Given the description of an element on the screen output the (x, y) to click on. 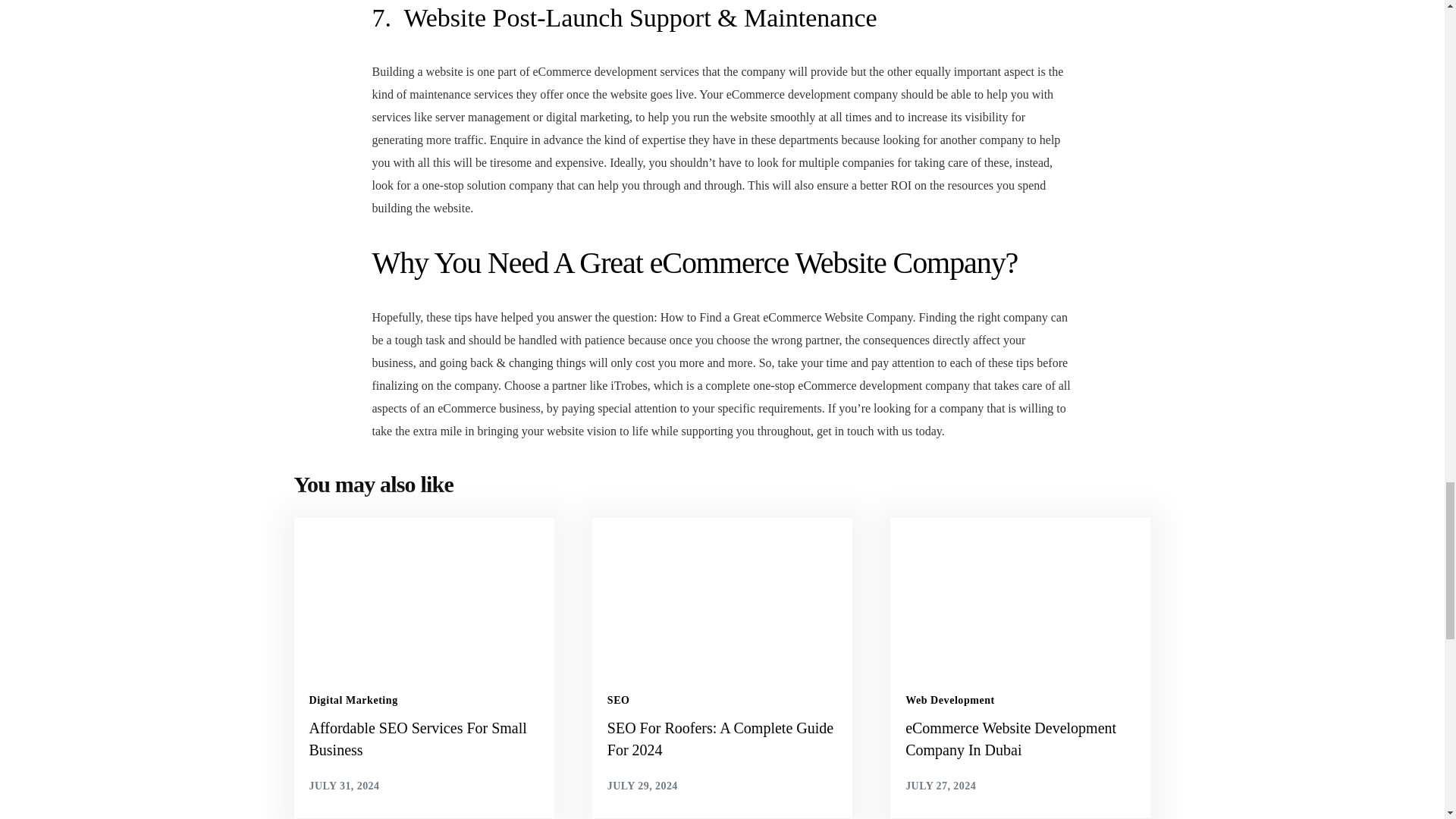
View Web Development posts (949, 700)
View SEO posts (618, 700)
View Digital Marketing posts (352, 700)
View Post: SEO For Roofers: A Complete Guide For 2024  (722, 739)
View Post: eCommerce Website Development Company In Dubai  (1020, 739)
View Post: eCommerce Website Development Company In Dubai (1019, 591)
View Post: Affordable SEO Services For Small Business (424, 591)
View Post: Affordable SEO Services For Small Business  (423, 739)
View Post: SEO For Roofers: A Complete Guide For 2024 (721, 591)
